Given the description of an element on the screen output the (x, y) to click on. 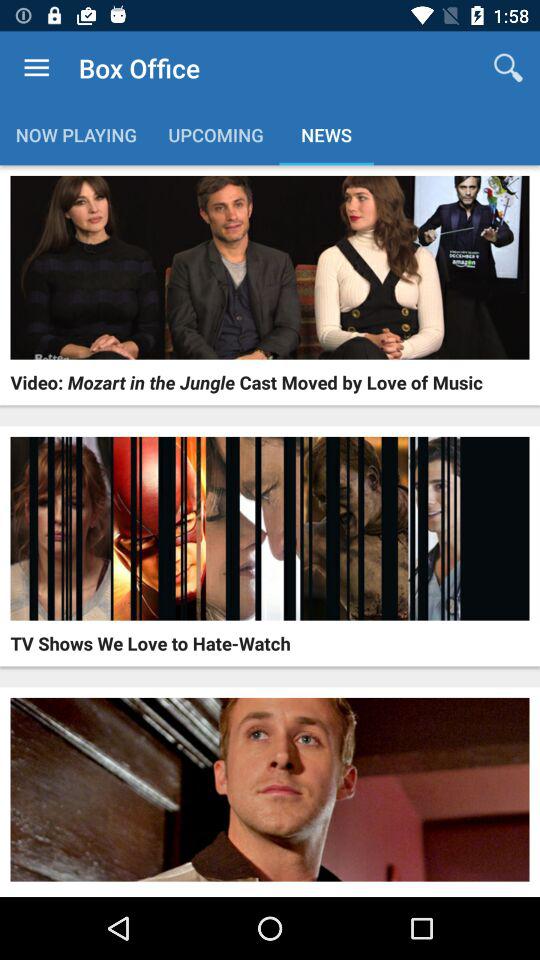
press the app to the right of box office icon (508, 67)
